Given the description of an element on the screen output the (x, y) to click on. 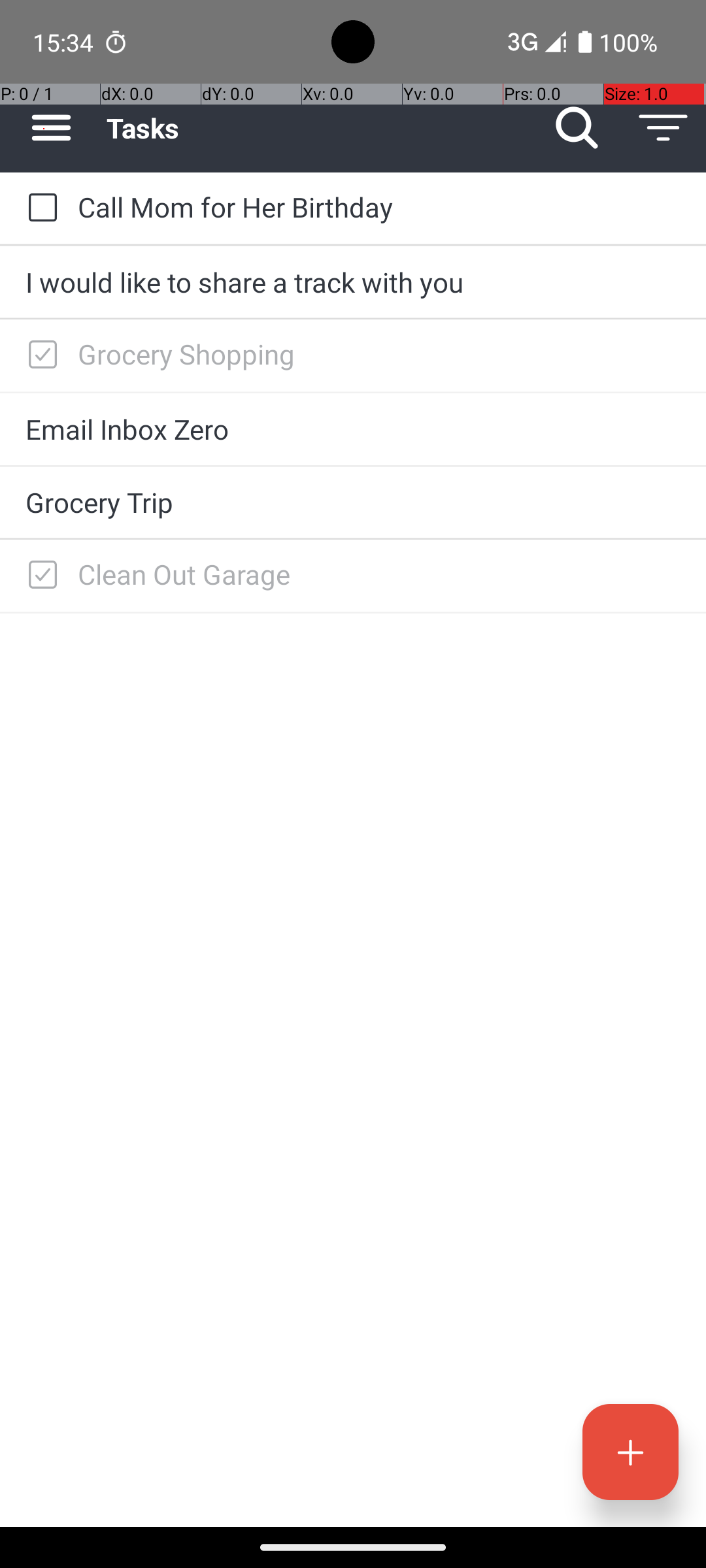
to-do: Call Mom for Her Birthday Element type: android.widget.CheckBox (38, 208)
Call Mom for Her Birthday Element type: android.widget.TextView (378, 206)
I would like to share a track with you Element type: android.widget.TextView (352, 281)
to-do: Grocery Shopping Element type: android.widget.CheckBox (38, 355)
Grocery Shopping Element type: android.widget.TextView (378, 353)
Email Inbox Zero Element type: android.widget.TextView (352, 428)
Grocery Trip Element type: android.widget.TextView (352, 501)
to-do: Clean Out Garage Element type: android.widget.CheckBox (38, 575)
Clean Out Garage Element type: android.widget.TextView (378, 573)
 Element type: android.widget.TextView (42, 355)
